Given the description of an element on the screen output the (x, y) to click on. 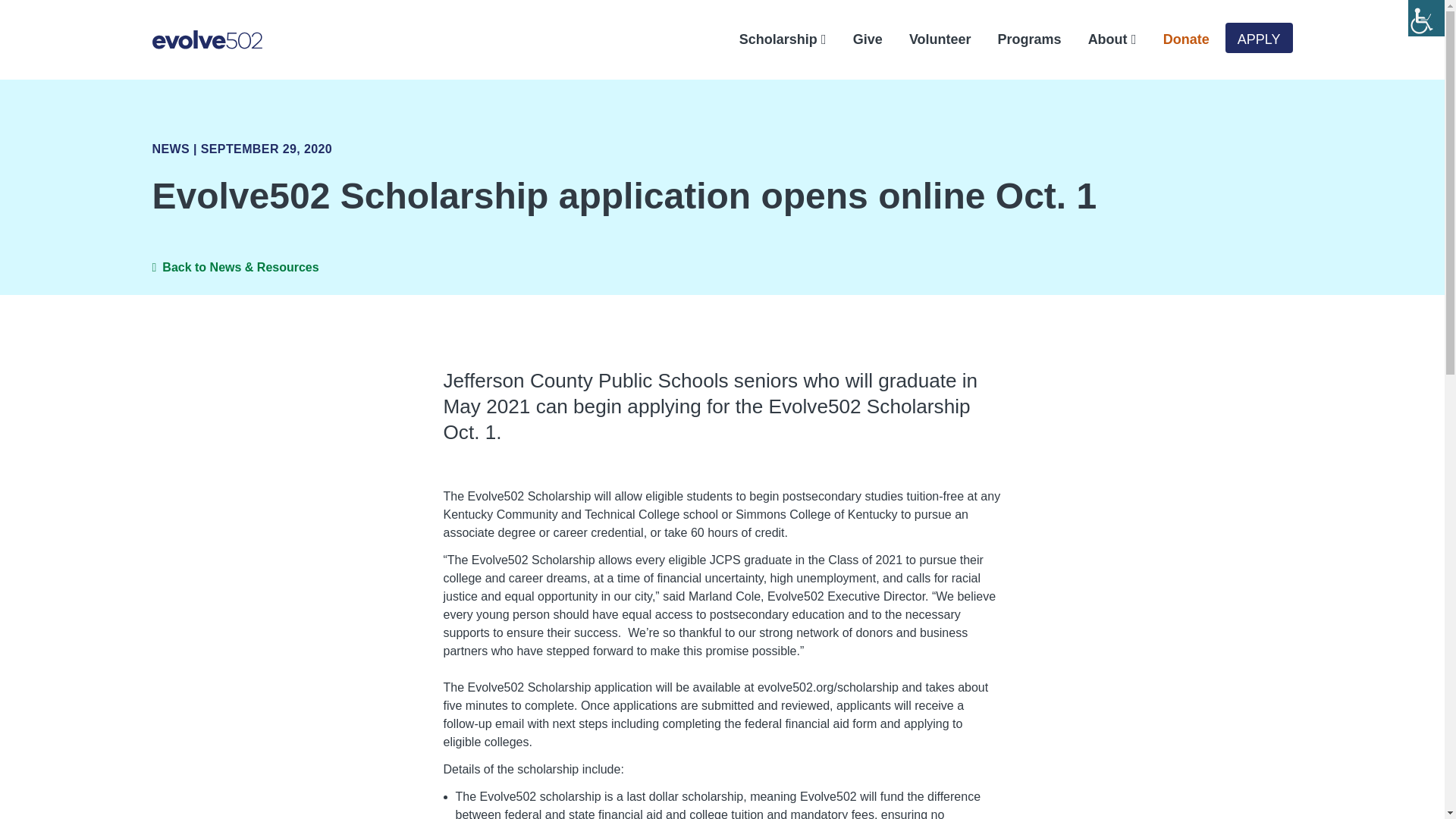
Programs (1020, 39)
Scholarship (772, 39)
Volunteer (930, 39)
APPLY (1258, 37)
Donation (1176, 39)
Donate (1176, 39)
About (1102, 39)
Give (857, 39)
